Given the description of an element on the screen output the (x, y) to click on. 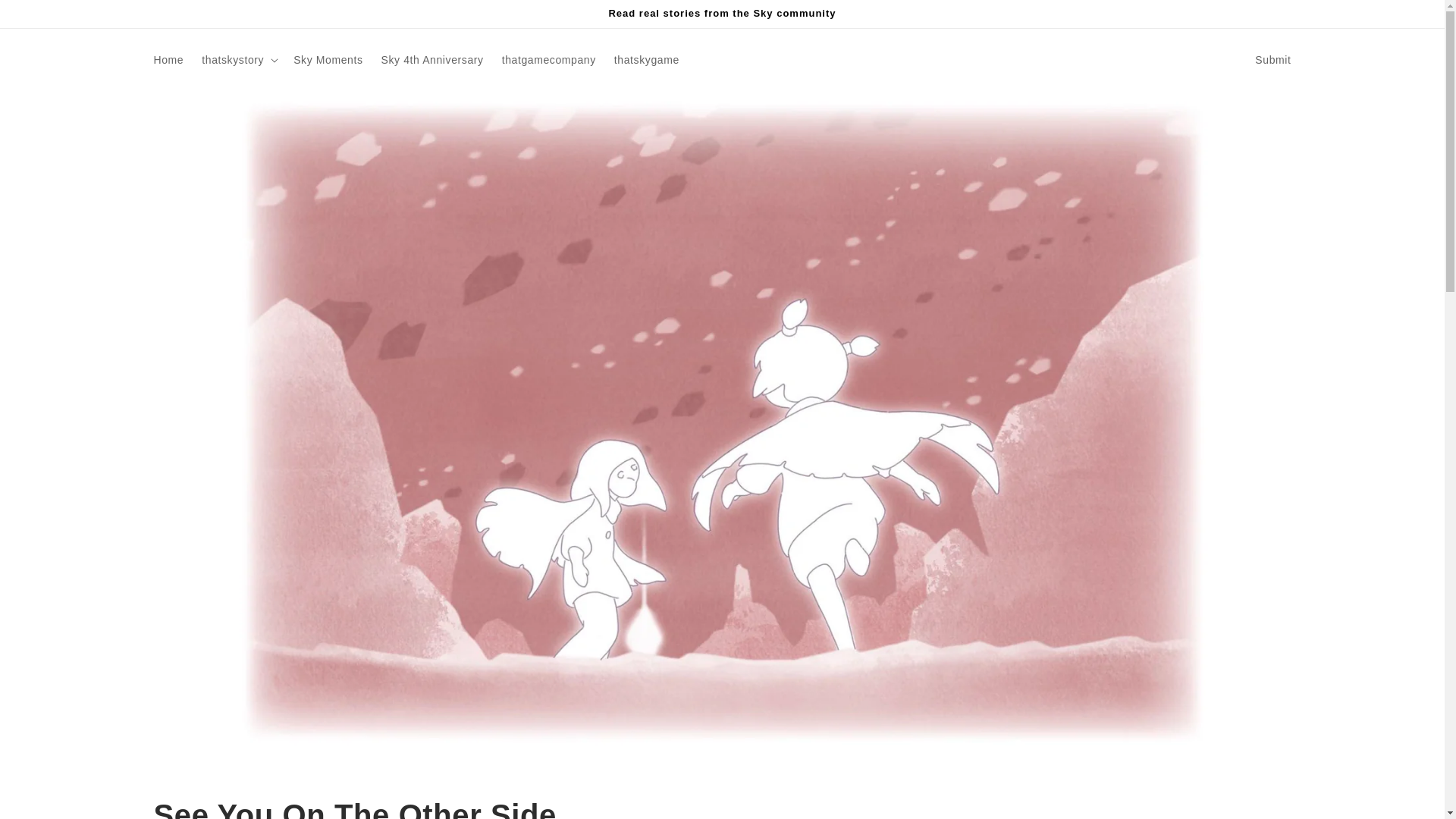
thatskygame (642, 60)
Submit (1272, 60)
thatgamecompany (549, 60)
Sky Moments (327, 60)
Home (172, 60)
Sky 4th Anniversary (432, 60)
Skip to content (45, 17)
